Given the description of an element on the screen output the (x, y) to click on. 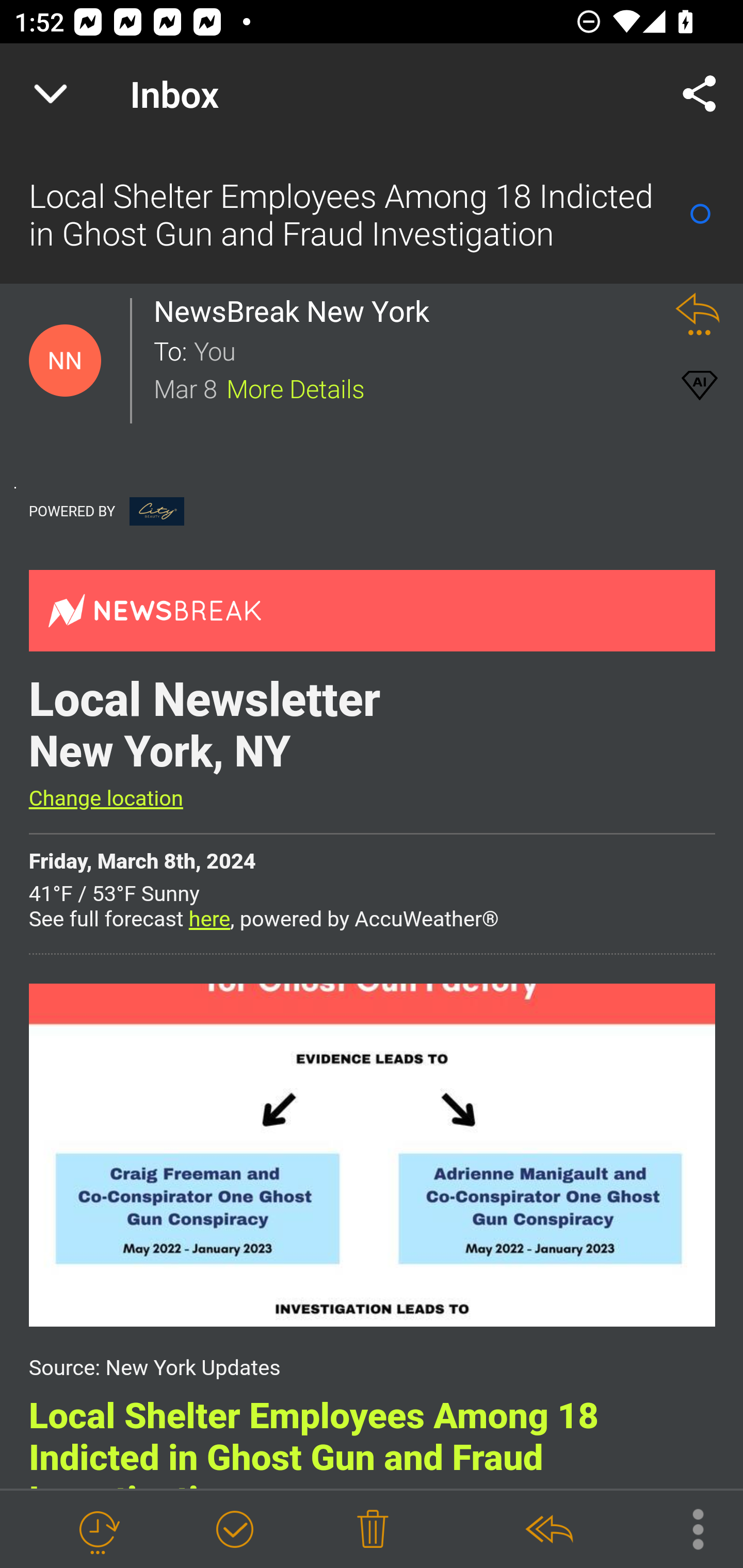
Navigate up (50, 93)
Share (699, 93)
Mark as Read (699, 213)
NewsBreak New York (296, 310)
Contact Details (64, 360)
You (422, 349)
More Details (295, 387)
info (156, 510)
Change location (105, 798)
here (209, 919)
1 local news image (371, 1154)
More Options (687, 1528)
Snooze (97, 1529)
Mark as Done (234, 1529)
Delete (372, 1529)
Reply All (548, 1529)
